Given the description of an element on the screen output the (x, y) to click on. 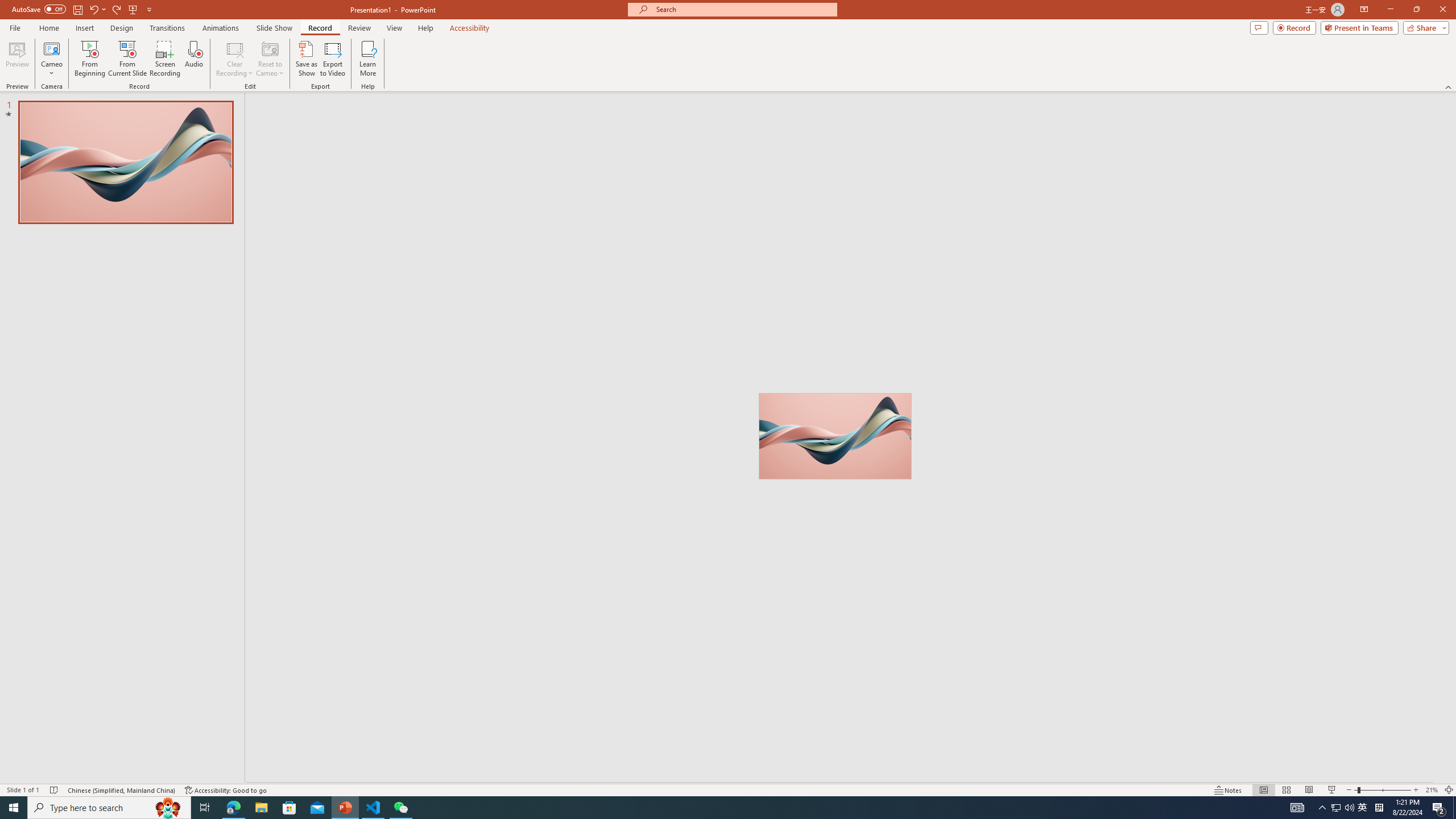
Cameo (51, 48)
Wavy 3D art (834, 436)
Save as Show (306, 58)
Preview (17, 58)
Cameo (51, 58)
